Given the description of an element on the screen output the (x, y) to click on. 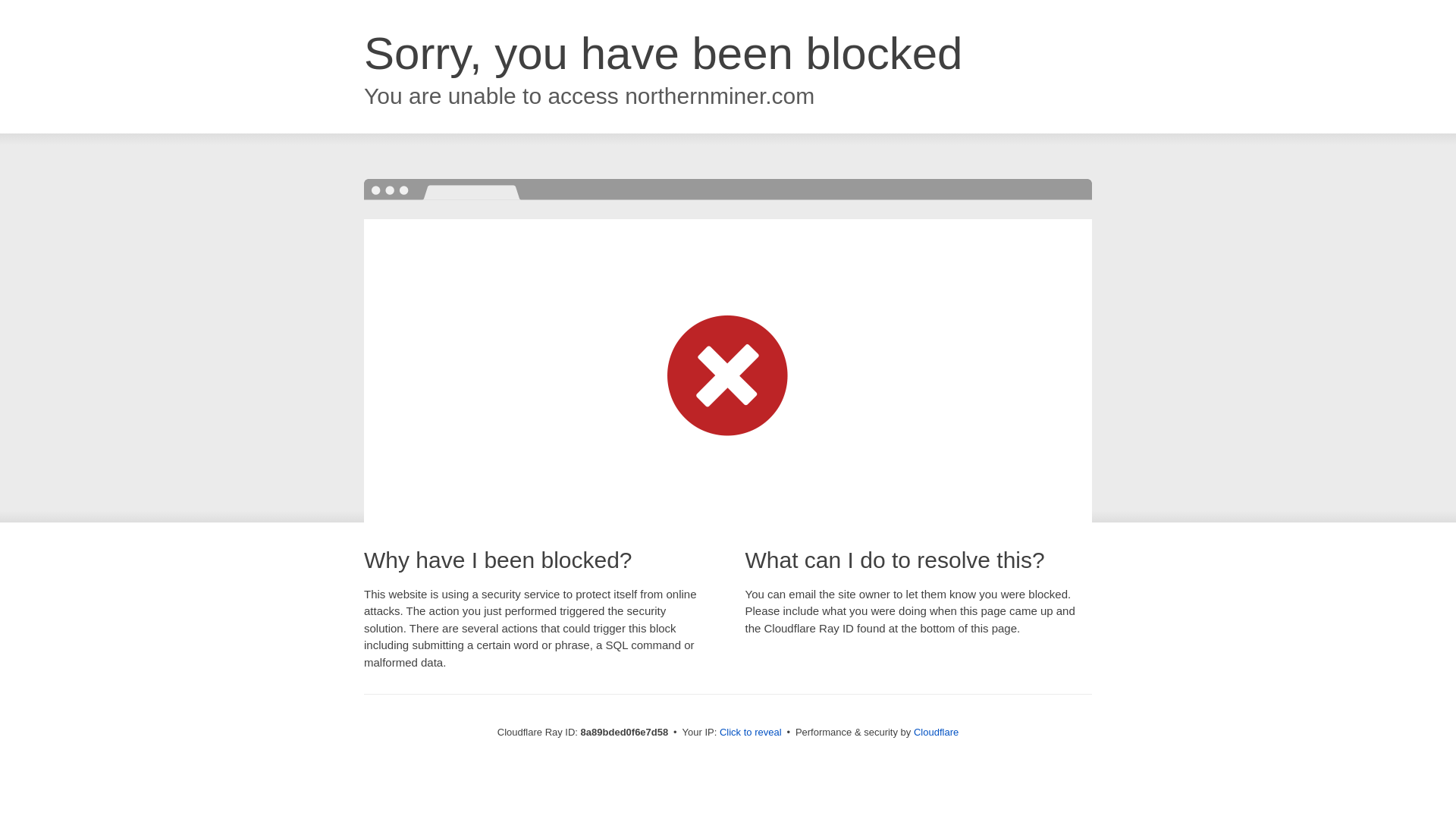
Cloudflare (936, 731)
Click to reveal (750, 732)
